Given the description of an element on the screen output the (x, y) to click on. 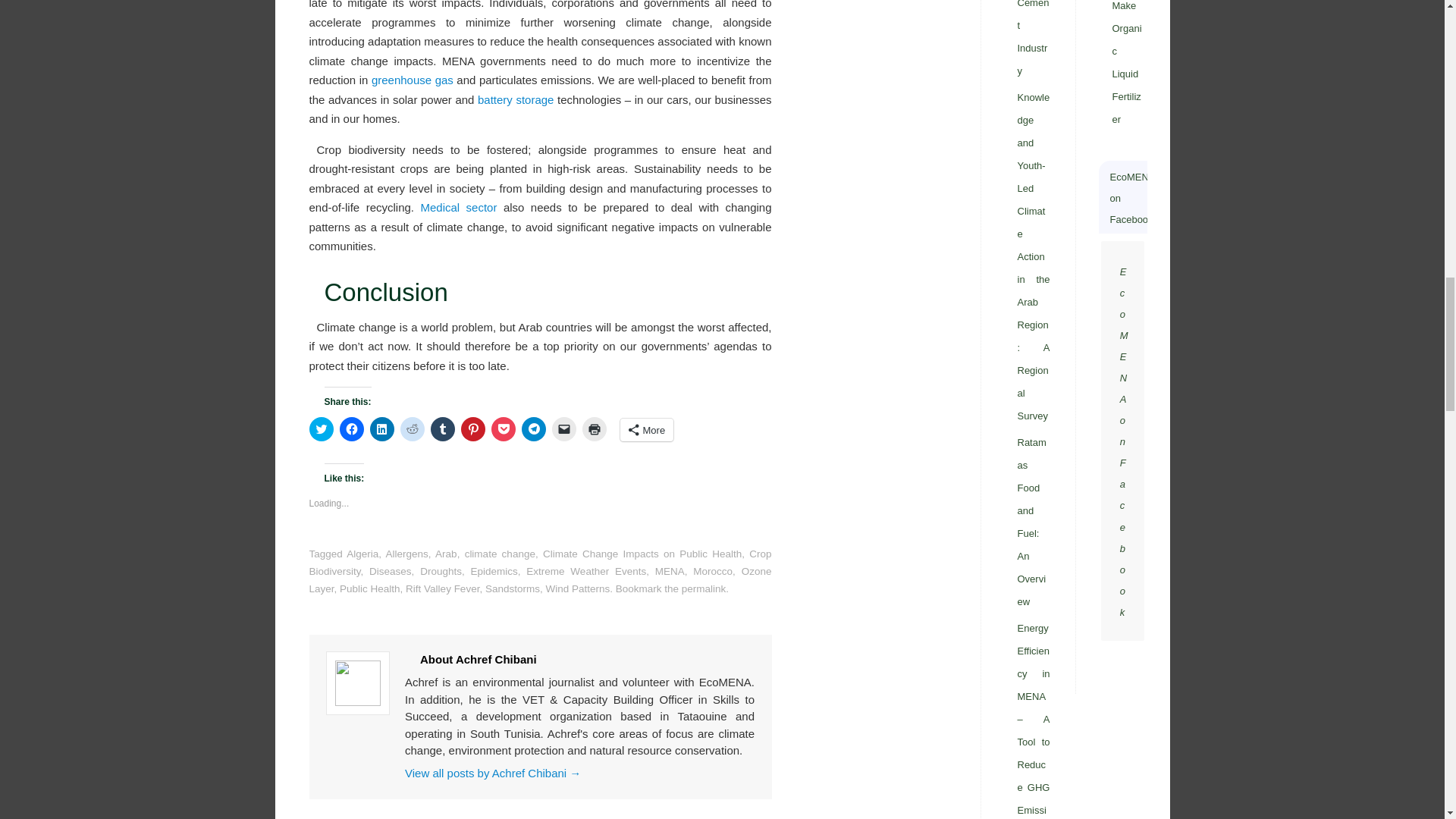
greenhouse gas (411, 79)
battery storage (515, 99)
Click to share on Facebook (351, 428)
Click to share on LinkedIn (381, 428)
Click to share on Reddit (412, 428)
Click to share on Tumblr (442, 428)
Click to share on Pinterest (472, 428)
Click to share on Twitter (320, 428)
Click to share on Pocket (503, 428)
Medical sector (458, 206)
